Given the description of an element on the screen output the (x, y) to click on. 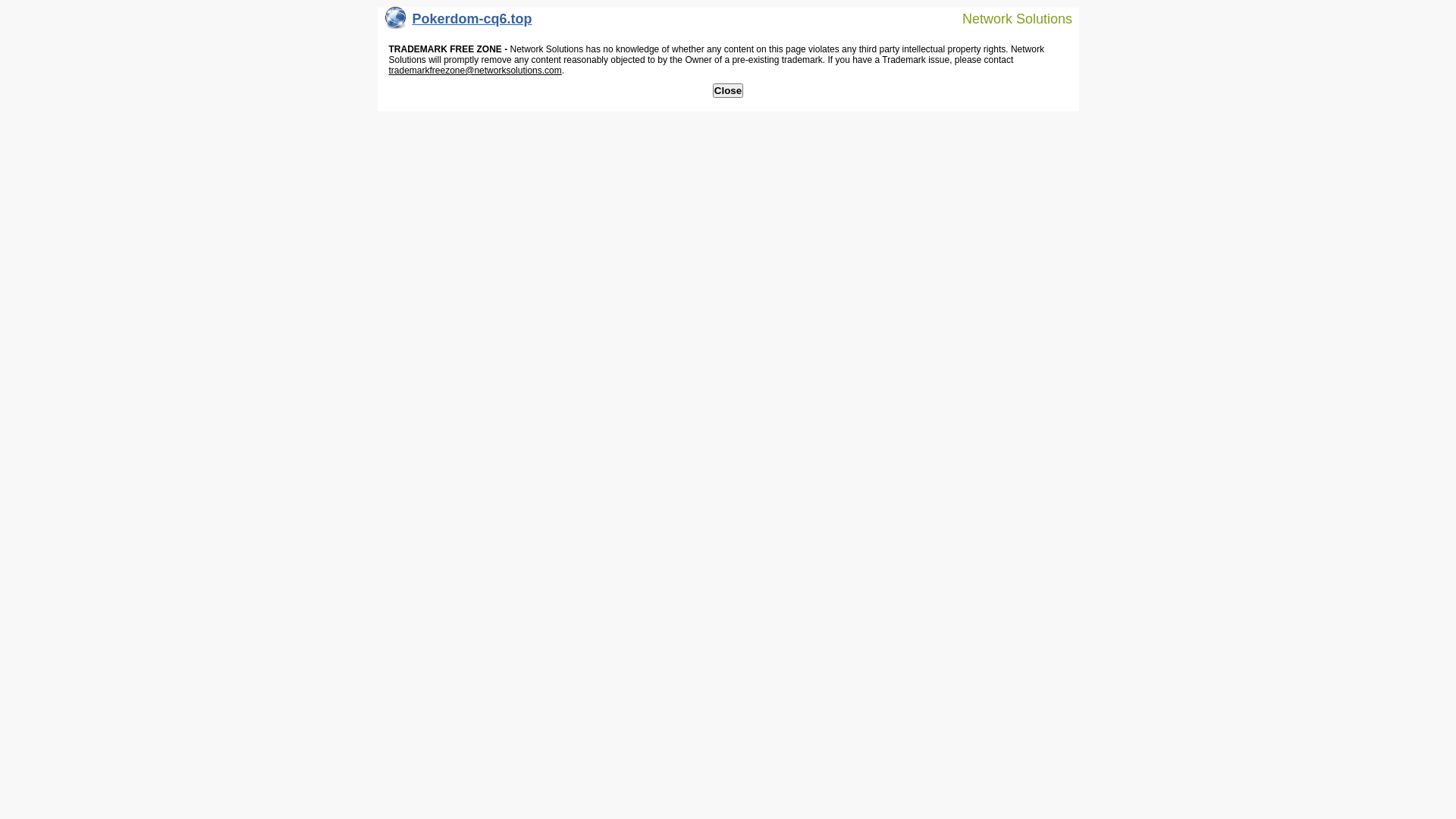
Pokerdom-cq6.top Element type: text (458, 21)
Network Solutions Element type: text (1007, 17)
trademarkfreezone@networksolutions.com Element type: text (474, 70)
Close Element type: text (727, 90)
